Given the description of an element on the screen output the (x, y) to click on. 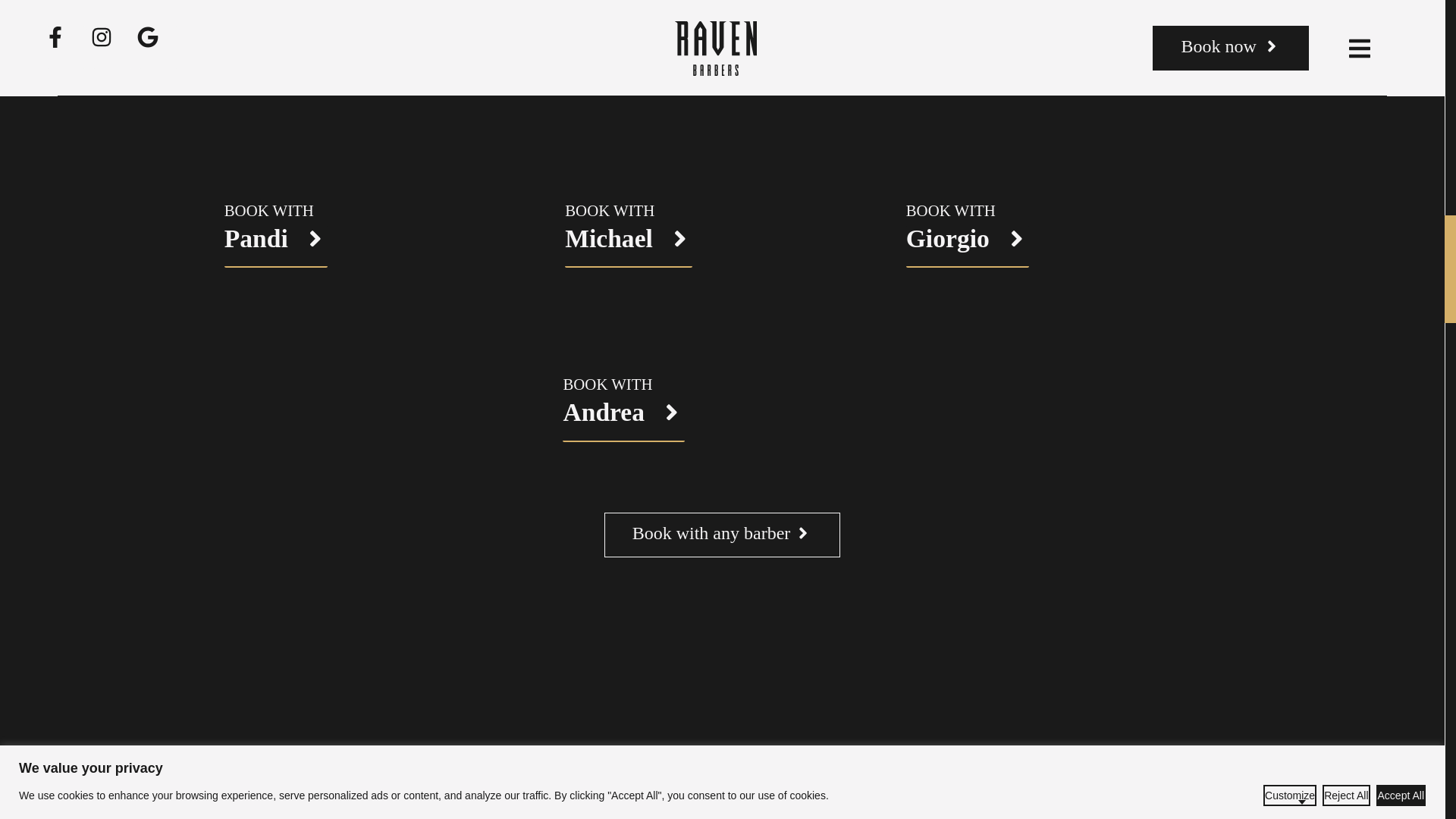
Michael (628, 246)
Giorgio (967, 246)
Pandi (276, 246)
